Given the description of an element on the screen output the (x, y) to click on. 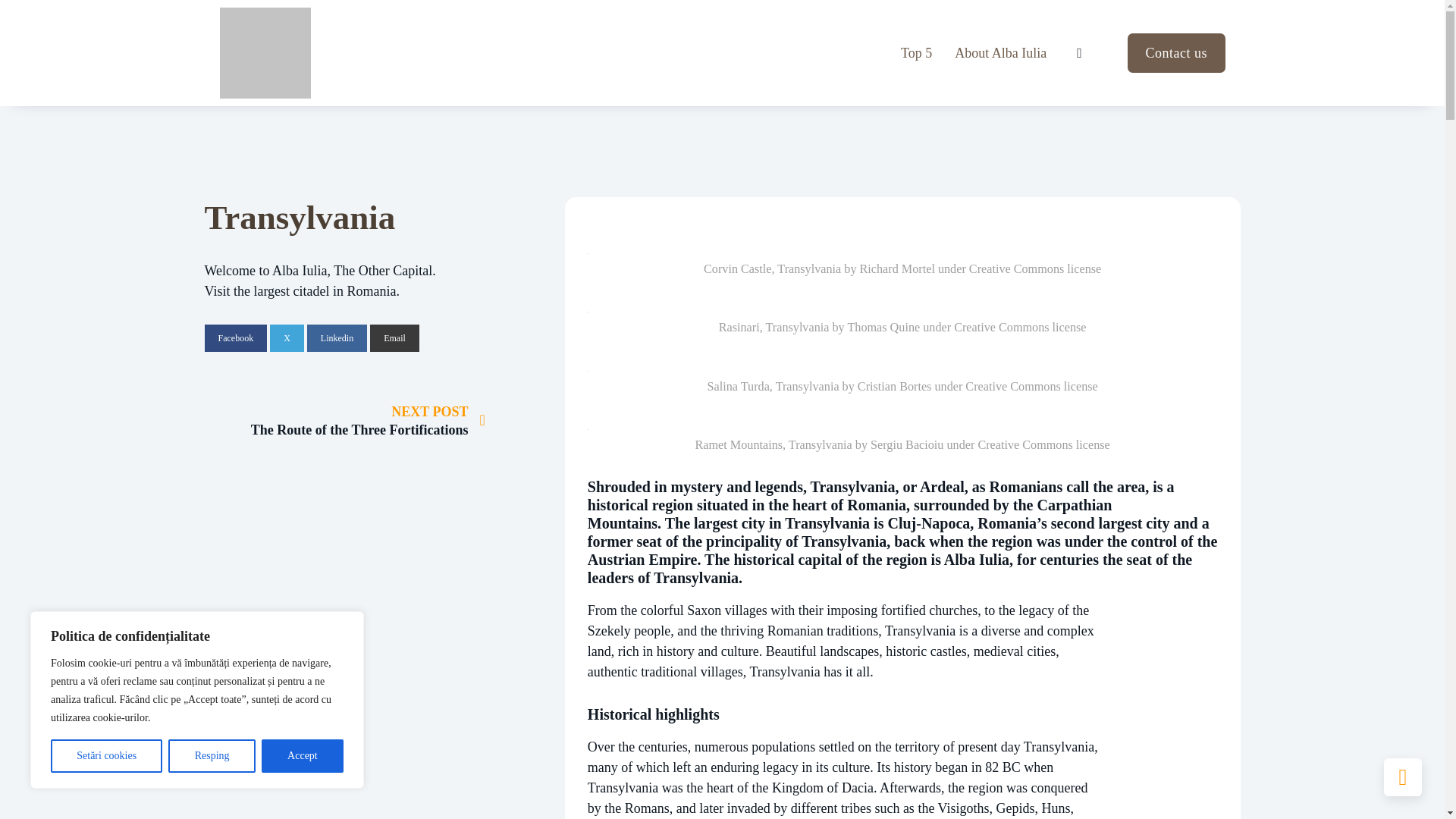
Accept (302, 756)
Top 5 (916, 52)
X (286, 338)
Email (394, 338)
Contact us (1175, 53)
Facebook (236, 338)
Linkedin (373, 420)
Resping (336, 338)
About Alba Iulia (211, 756)
